Given the description of an element on the screen output the (x, y) to click on. 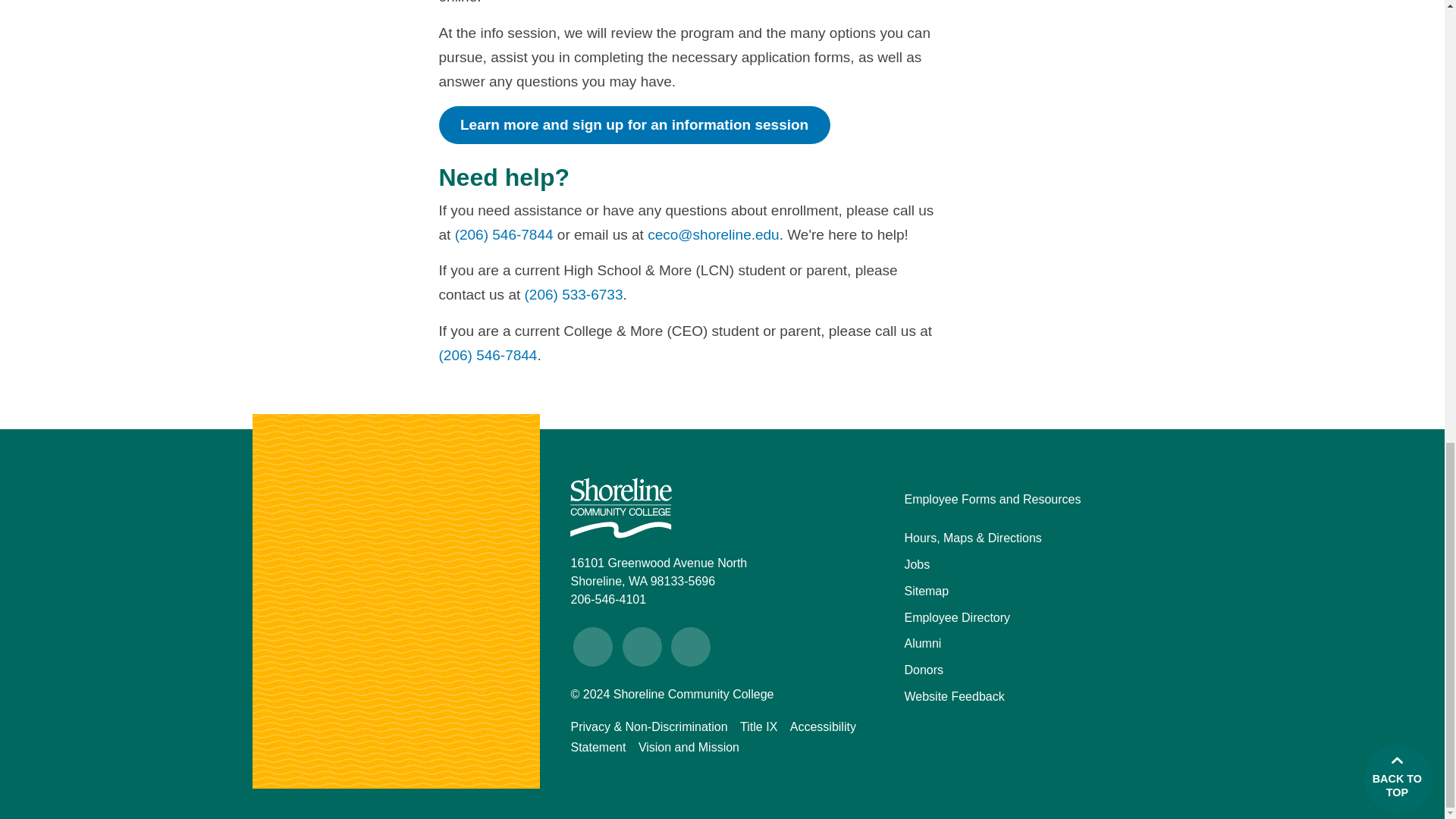
Visit Shoreline Community College on Facebook (592, 646)
Shoreline Community College (620, 507)
